Given the description of an element on the screen output the (x, y) to click on. 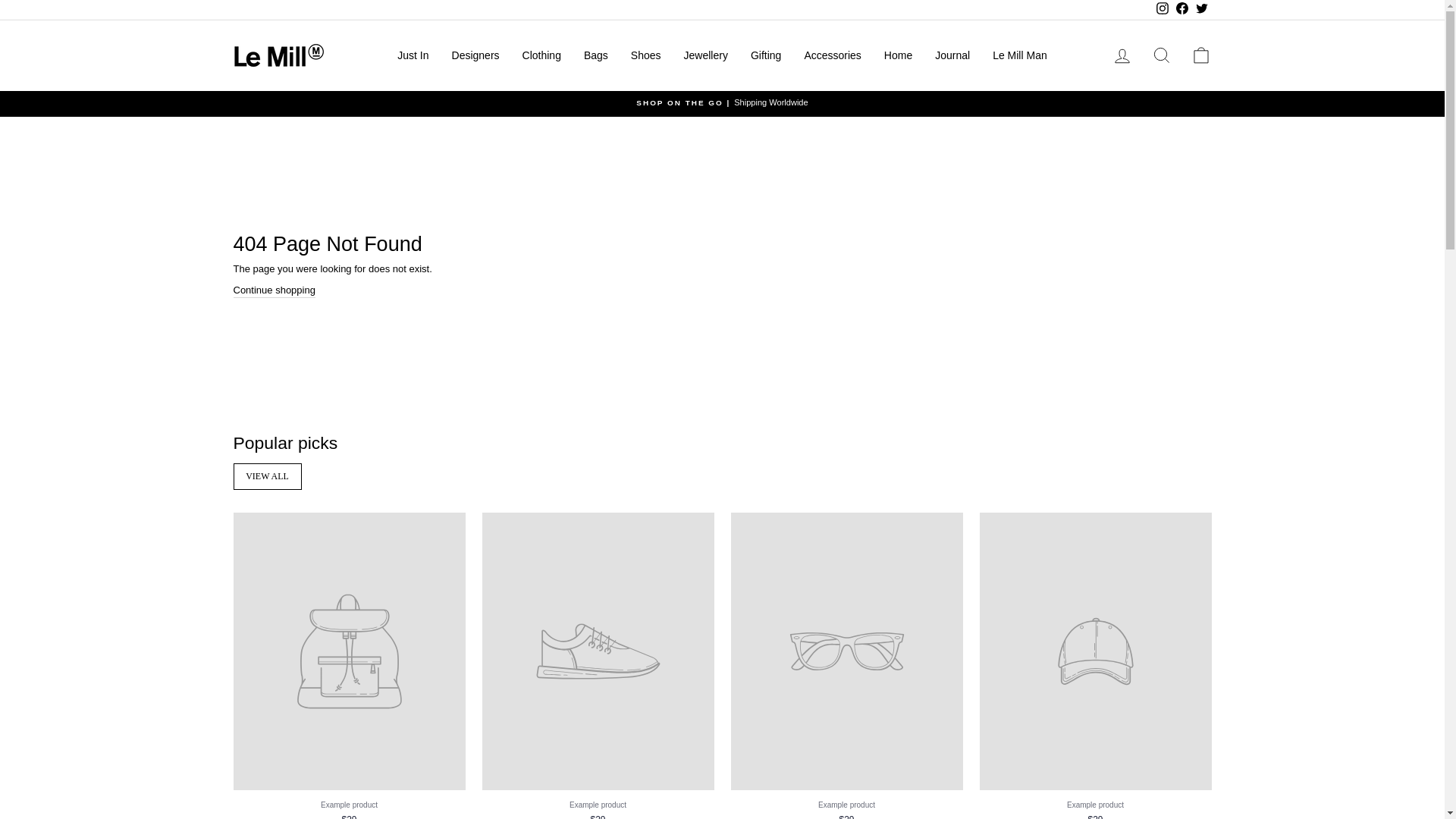
Le Mill on Instagram (1162, 9)
Le Mill on Twitter (1201, 9)
Le Mill on Facebook (1182, 9)
